Given the description of an element on the screen output the (x, y) to click on. 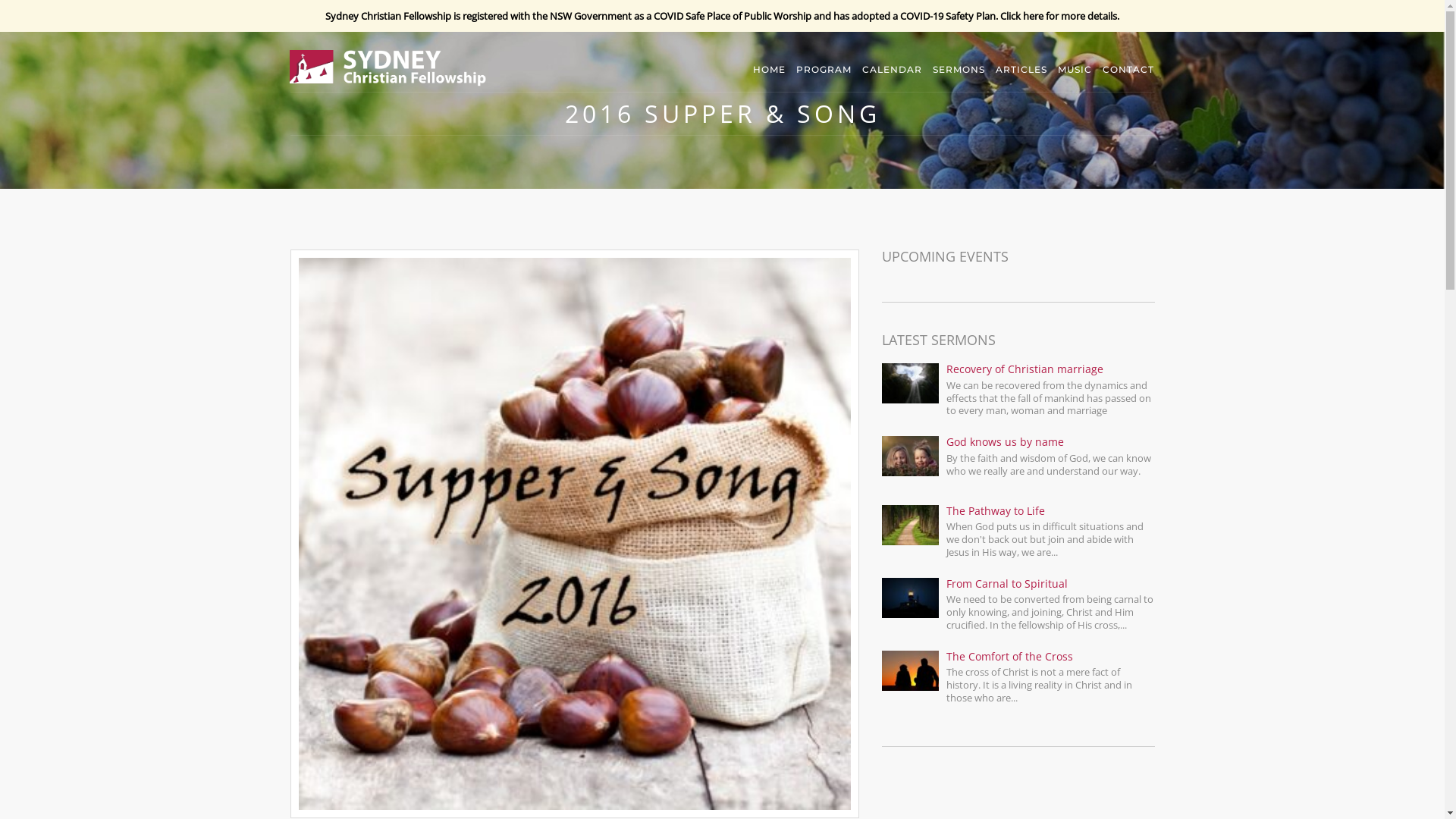
The Pathway to Life Element type: text (995, 510)
CALENDAR Element type: text (885, 68)
ARTICLES Element type: text (1015, 68)
PROGRAM Element type: text (818, 68)
God knows us by name Element type: text (1004, 441)
The Comfort of the Cross Element type: text (1009, 656)
MUSIC Element type: text (1068, 68)
From Carnal to Spiritual Element type: text (1006, 583)
CONTACT Element type: text (1123, 68)
HOME Element type: text (762, 68)
Recovery of Christian marriage Element type: text (1024, 368)
SERMONS Element type: text (953, 68)
